Given the description of an element on the screen output the (x, y) to click on. 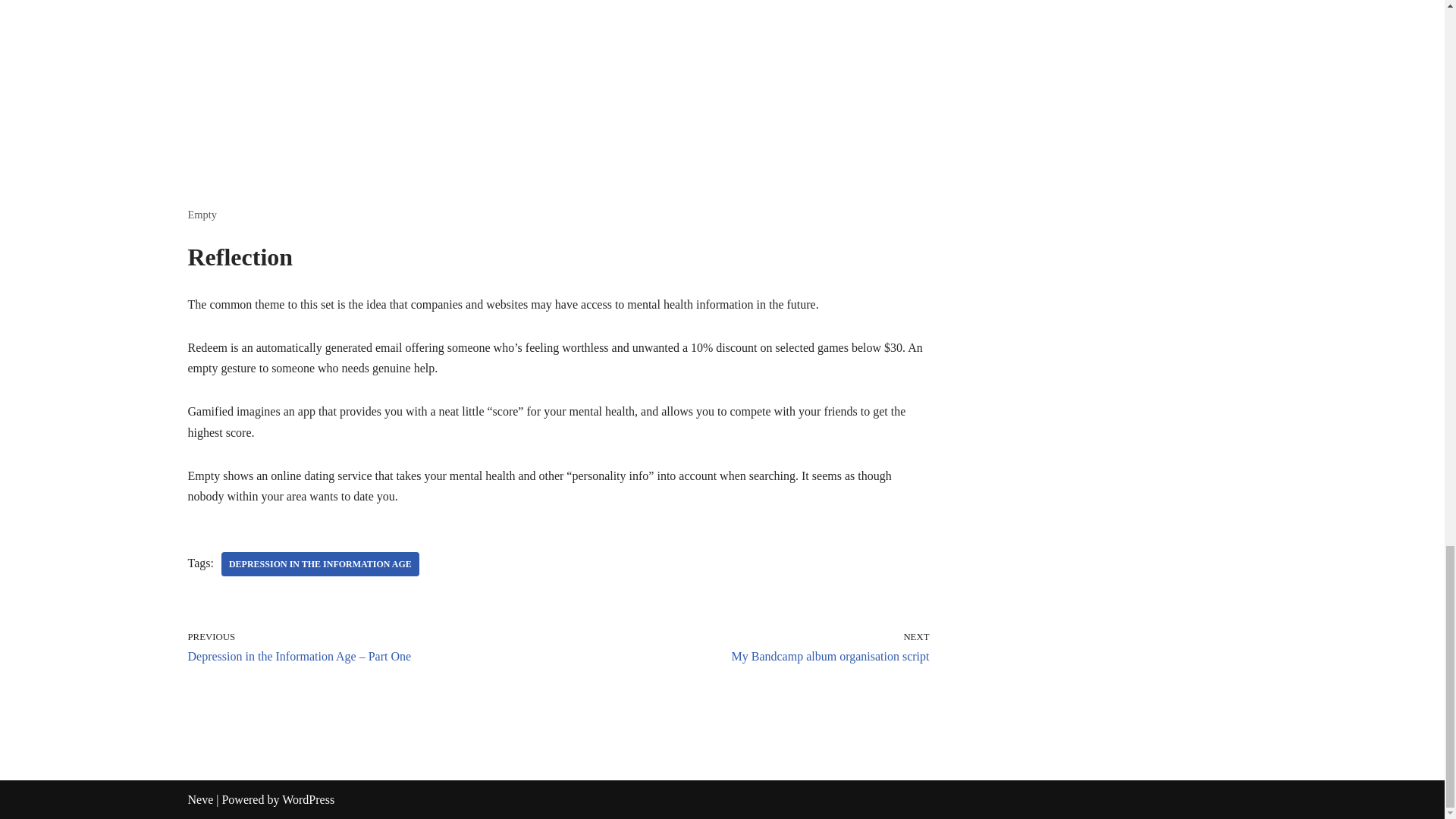
Depression in the Information Age (320, 564)
Neve (200, 799)
DEPRESSION IN THE INFORMATION AGE (320, 564)
WordPress (308, 799)
